Given the description of an element on the screen output the (x, y) to click on. 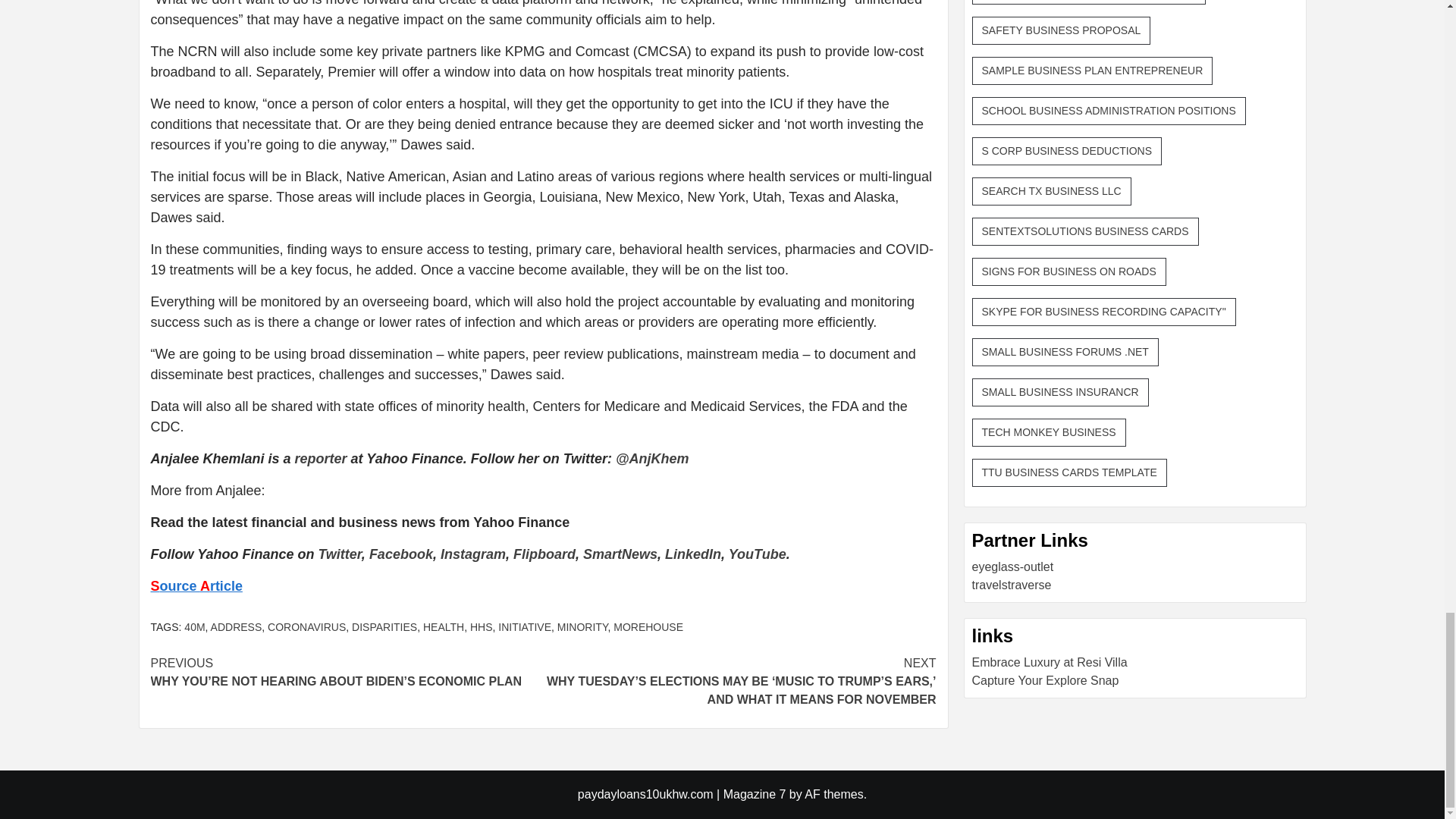
HEALTH (443, 626)
LinkedIn (692, 554)
Facebook (400, 554)
Twitter (339, 554)
Instagram (473, 554)
40M (194, 626)
DISPARITIES (384, 626)
YouTube (757, 554)
reporter (321, 458)
Source Article (195, 585)
